Given the description of an element on the screen output the (x, y) to click on. 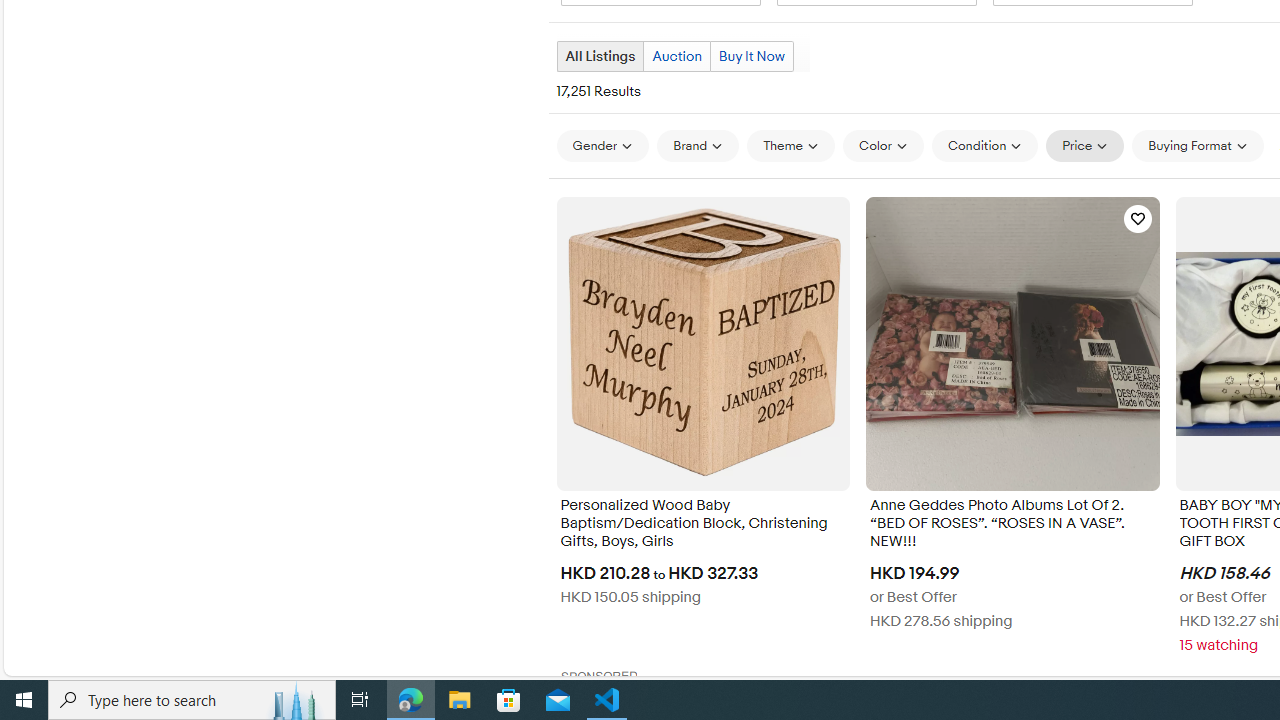
Buying Format (1197, 145)
All Listings (599, 56)
All Listings Current view (599, 56)
Price (1085, 145)
Auction (676, 56)
Condition (984, 145)
Buy It Now (751, 56)
Brand (697, 145)
Color (883, 146)
Brand (697, 146)
Buy It Now (751, 56)
Condition (984, 146)
Gender (602, 146)
